Given the description of an element on the screen output the (x, y) to click on. 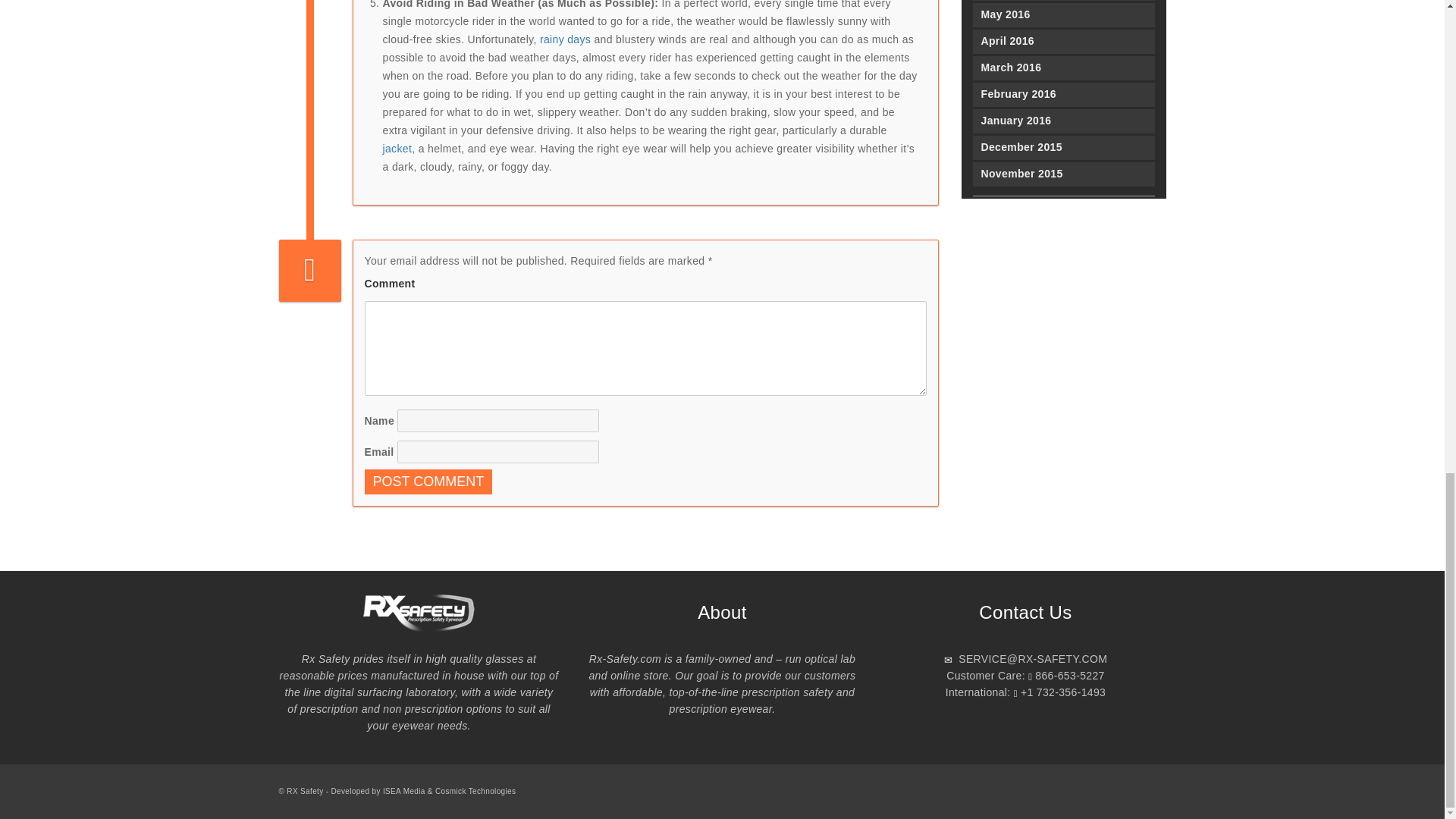
May 2016 (1063, 15)
Post Comment (428, 481)
